Given the description of an element on the screen output the (x, y) to click on. 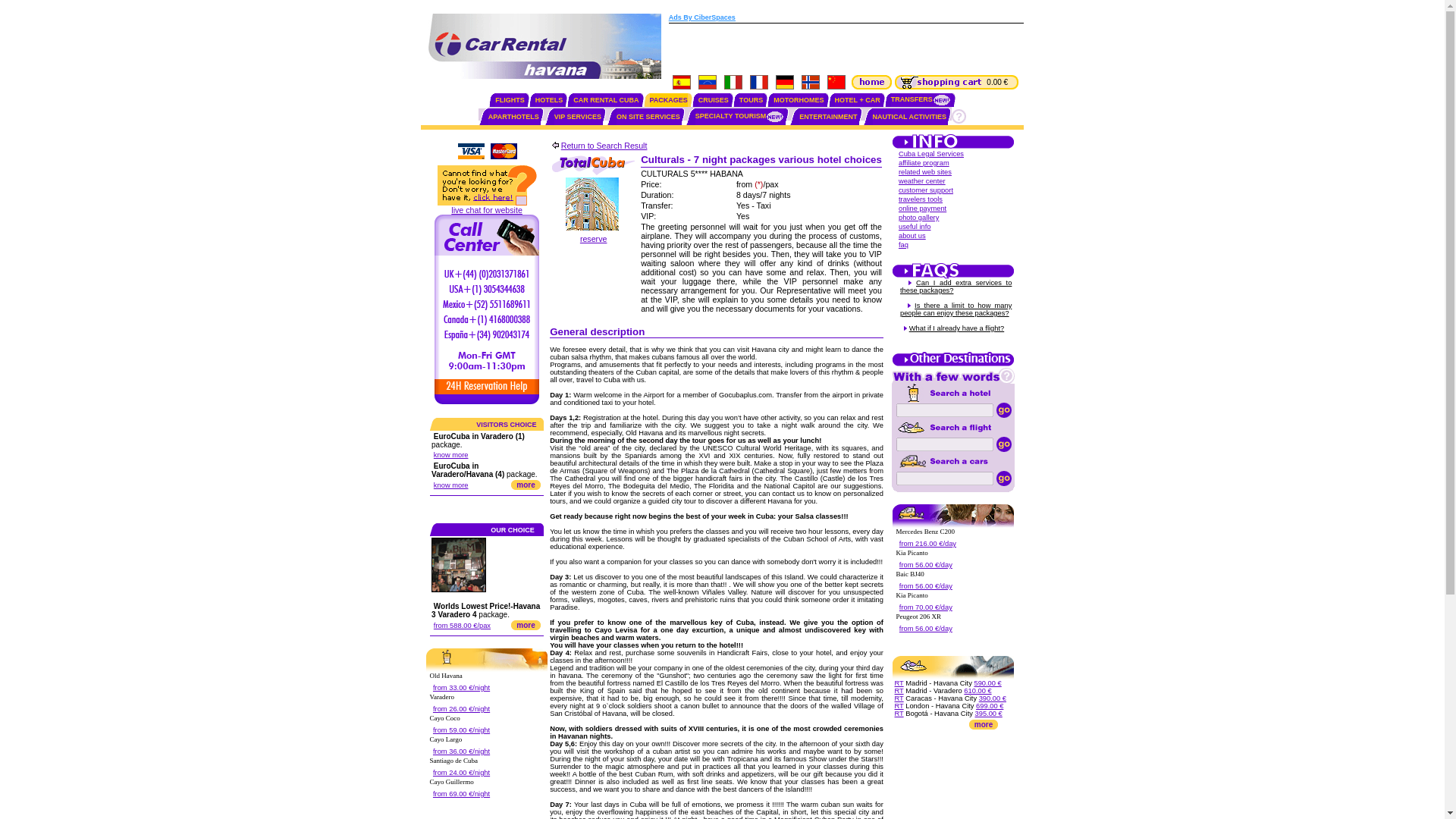
APARTHOTELS (512, 116)
Advertisement (845, 48)
MOTORHOMES (798, 100)
CRUISES (713, 100)
PACKAGES (668, 100)
CAR RENTAL CUBA (606, 100)
live chat for website (486, 209)
ON SITE SERVICES (647, 116)
SPECIALTY TOURISM (739, 115)
know more (450, 454)
NAUTICAL ACTIVITIES (909, 116)
VIP SERVICES (577, 116)
TRANSFERS (920, 99)
Other Destinations (952, 364)
ENTERTAINMENT (828, 116)
